Given the description of an element on the screen output the (x, y) to click on. 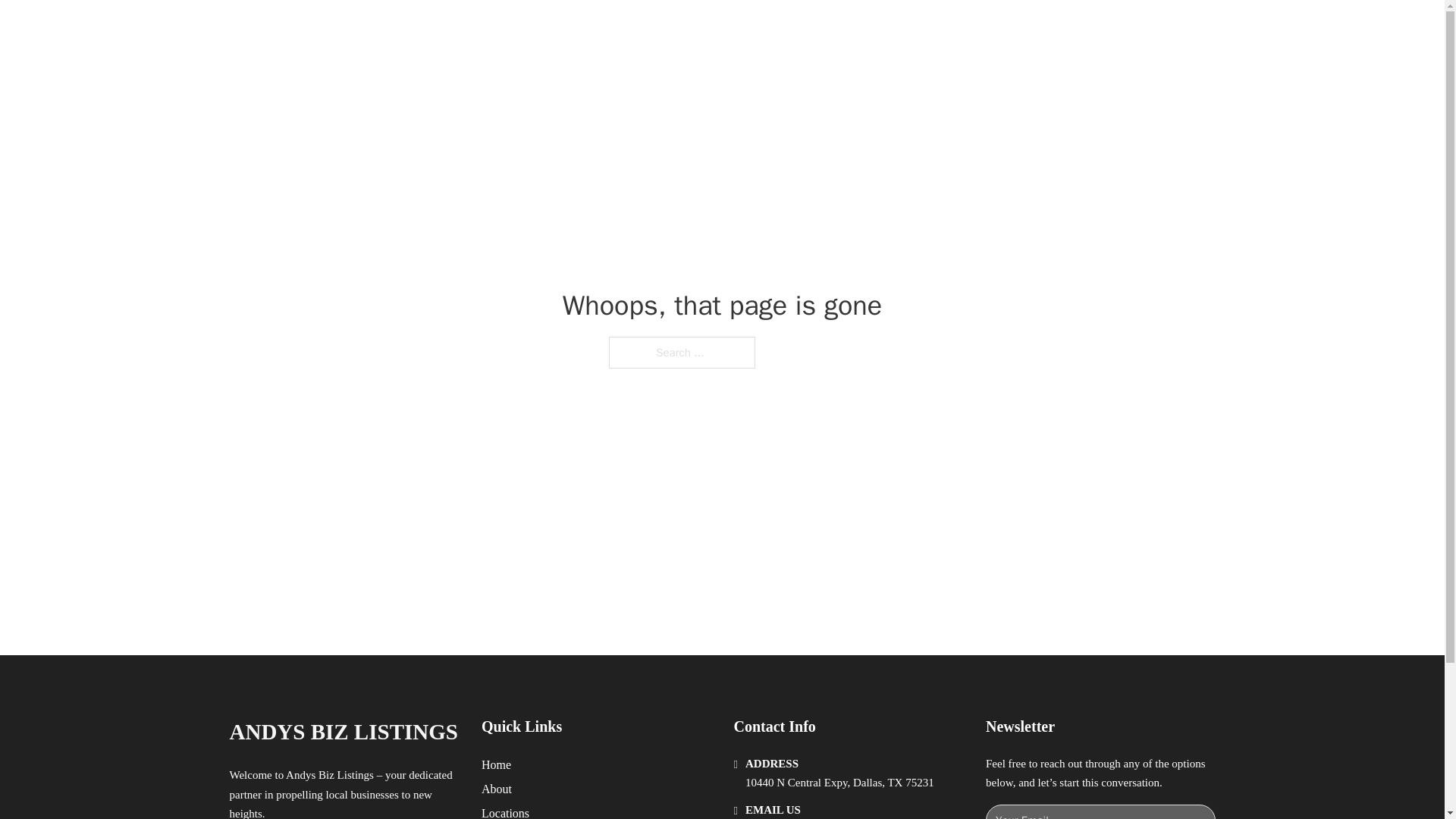
HOME (919, 29)
LOCATIONS (990, 29)
Locations (505, 811)
ANDYS BIZ LISTINGS (342, 732)
ANDYS BIZ LISTINGS (413, 28)
Home (496, 764)
About (496, 788)
